Given the description of an element on the screen output the (x, y) to click on. 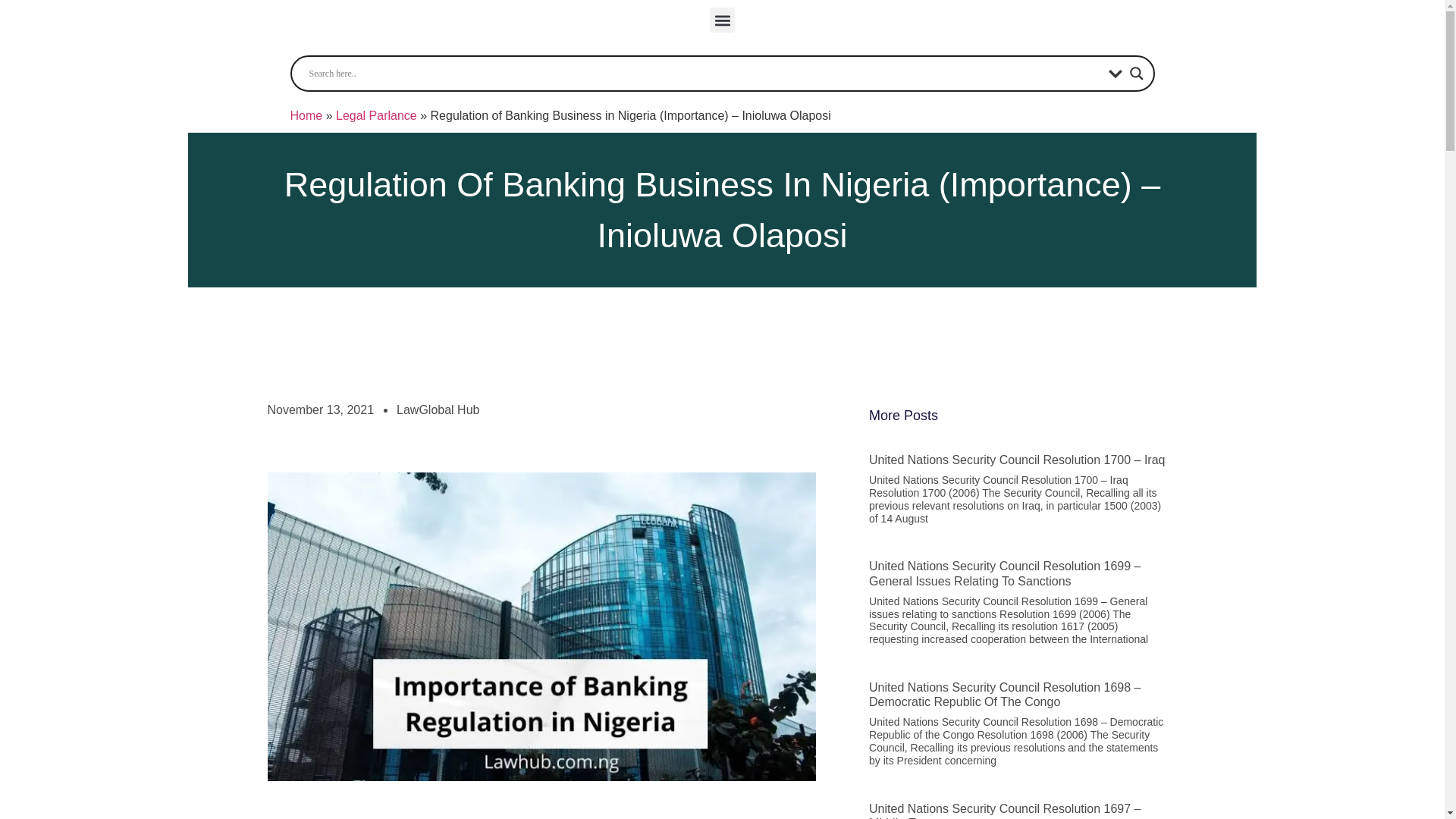
November 13, 2021 (320, 410)
Legal Parlance (376, 115)
LawGlobal Hub (437, 410)
Home (305, 115)
